Given the description of an element on the screen output the (x, y) to click on. 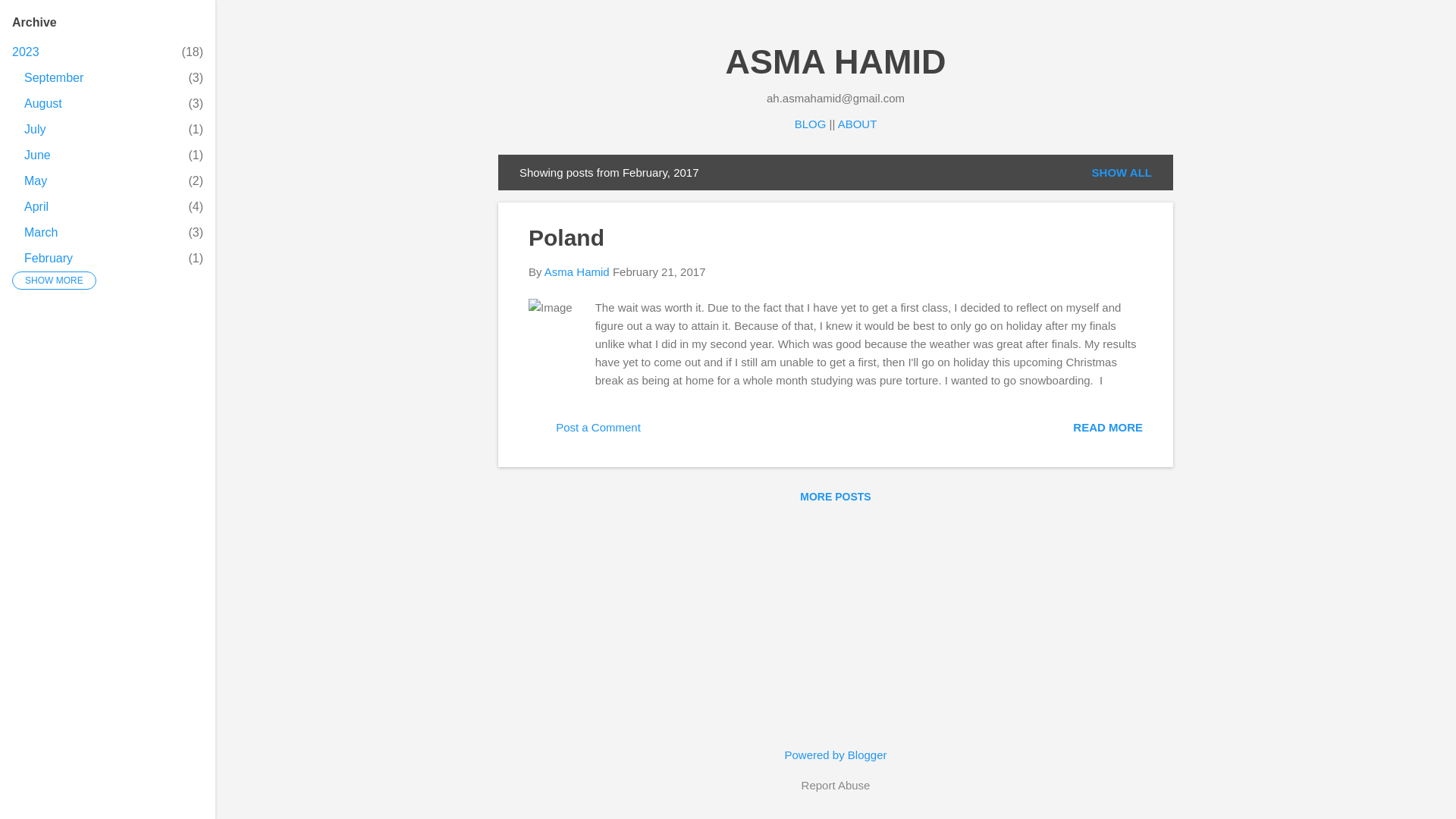
Post a Comment (584, 431)
ABOUT (857, 123)
ASMA HAMID (34, 128)
Poland (43, 103)
permanent link (53, 77)
SHOW ALL (25, 51)
